Given the description of an element on the screen output the (x, y) to click on. 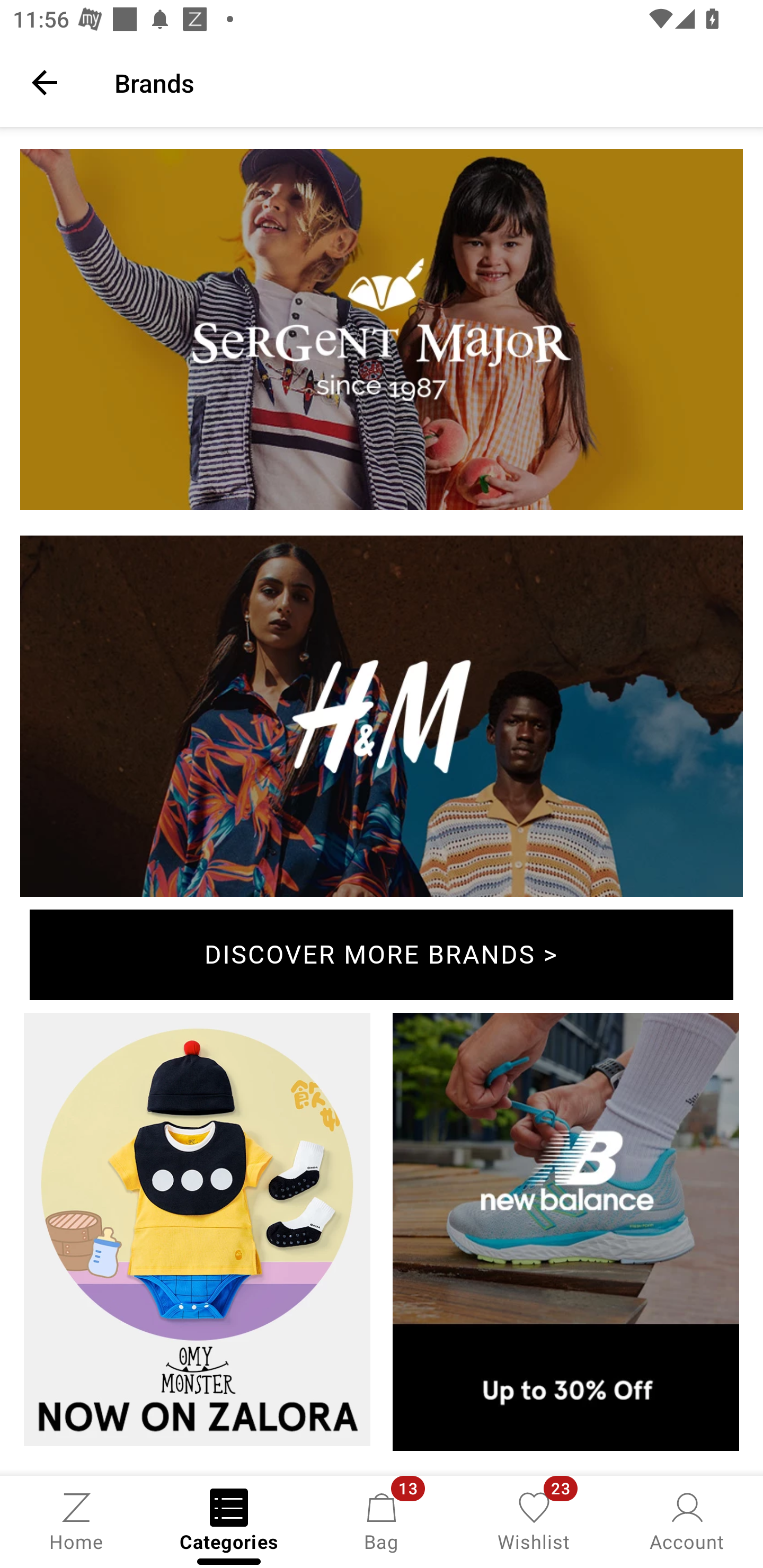
Navigate up (44, 82)
Brands (426, 82)
7-App-T1A-B-Banner-800x400 (381, 332)
3-App-T1A-B-Banner-800x400-C (381, 720)
DISCOVER MORE BRANDS > (381, 955)
DESKTOP_APP_ZAP_Standard_Grid_-_640x800 (197, 1232)
APP_Grid_380x480 (565, 1235)
Home (76, 1519)
Bag, 13 new notifications Bag (381, 1519)
Wishlist, 23 new notifications Wishlist (533, 1519)
Account (686, 1519)
